Given the description of an element on the screen output the (x, y) to click on. 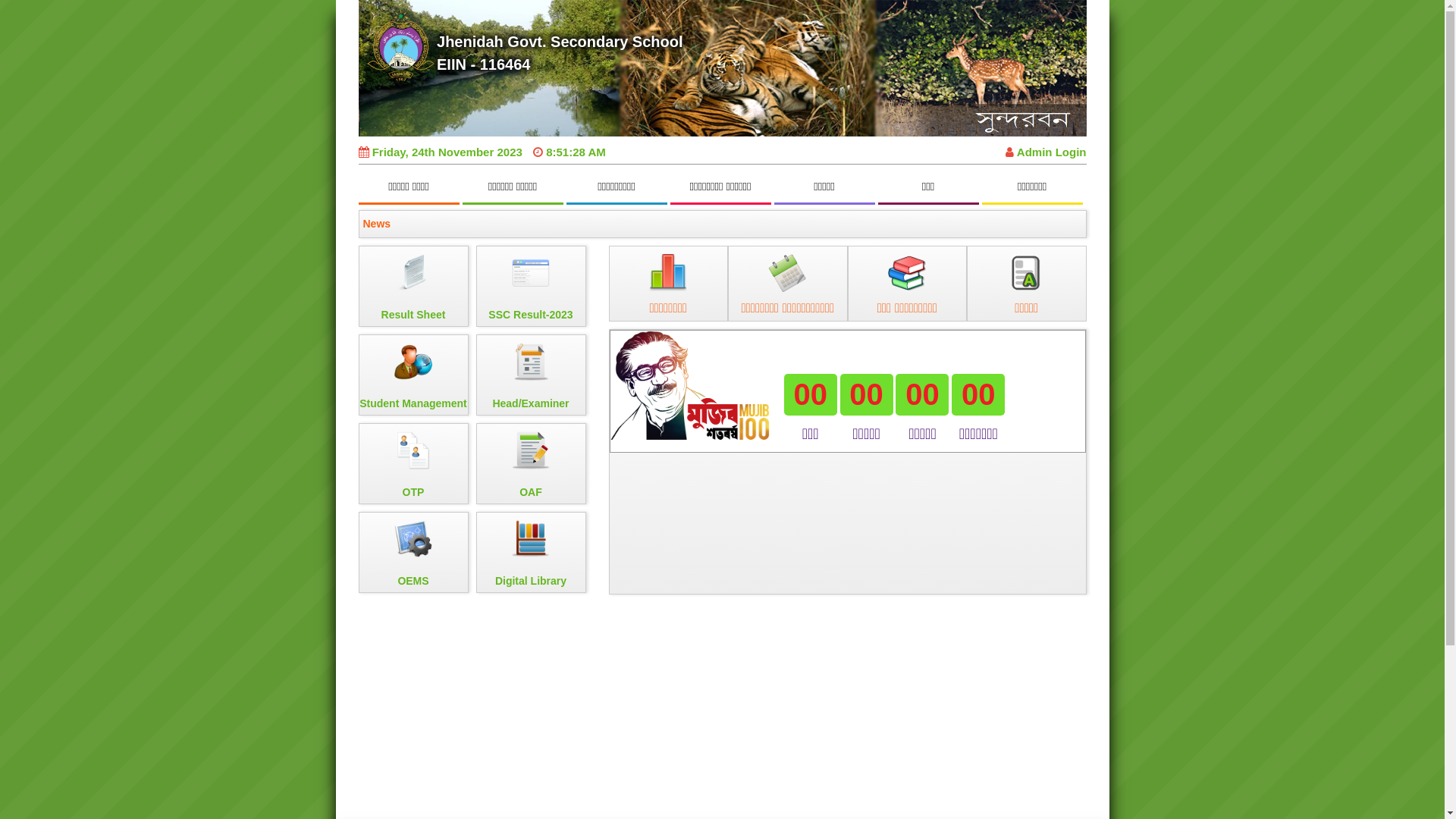
OAF Element type: text (531, 463)
Admin Login Element type: text (1045, 151)
OEMS Element type: text (412, 552)
OTP Element type: text (412, 463)
SSC Result-2023 Element type: text (531, 285)
Result Sheet Element type: text (412, 285)
Digital Library Element type: text (531, 552)
Student Management Element type: text (412, 374)
Head/Examiner Element type: text (531, 374)
